Given the description of an element on the screen output the (x, y) to click on. 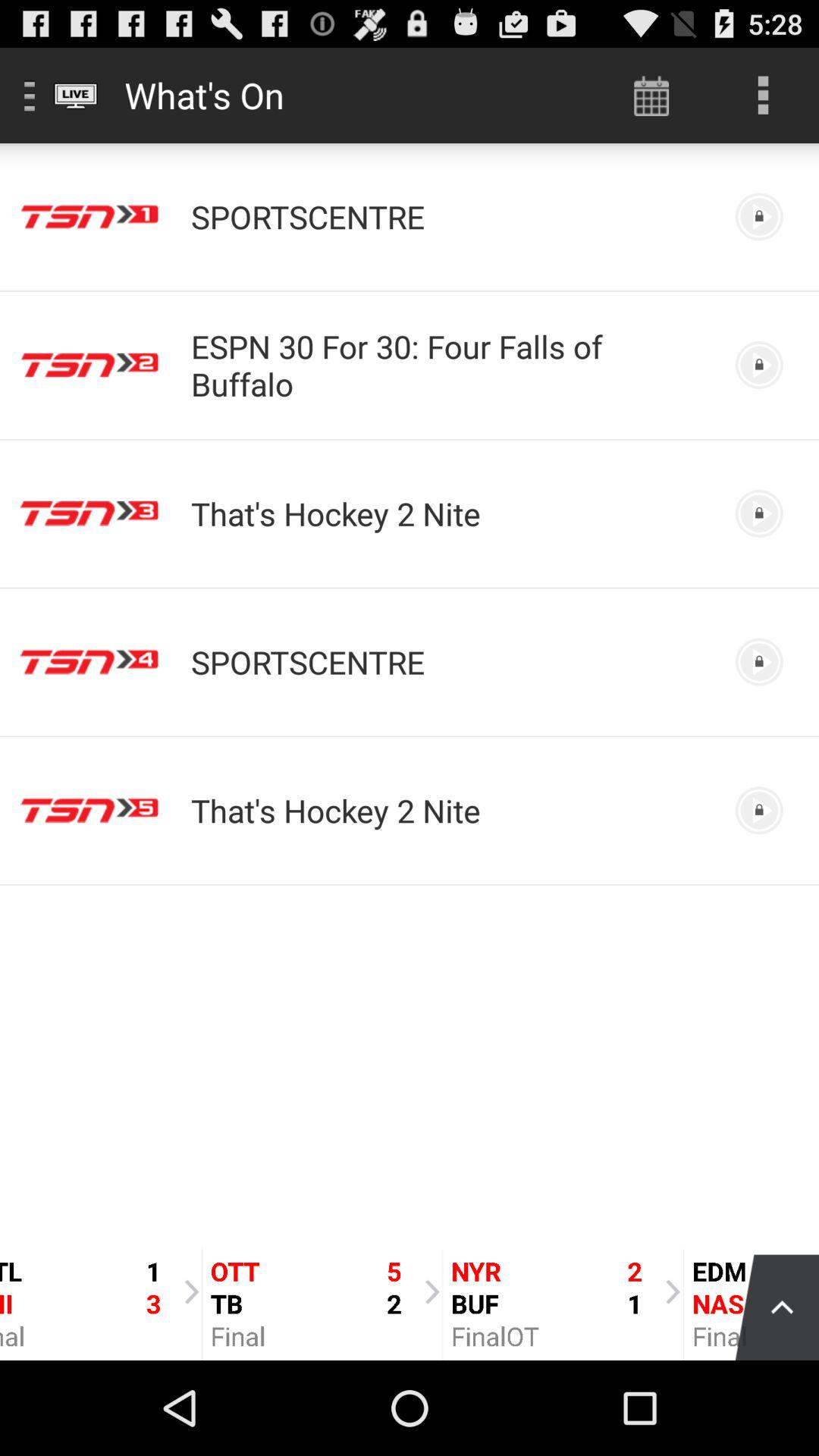
open icon next to what's on (651, 95)
